Given the description of an element on the screen output the (x, y) to click on. 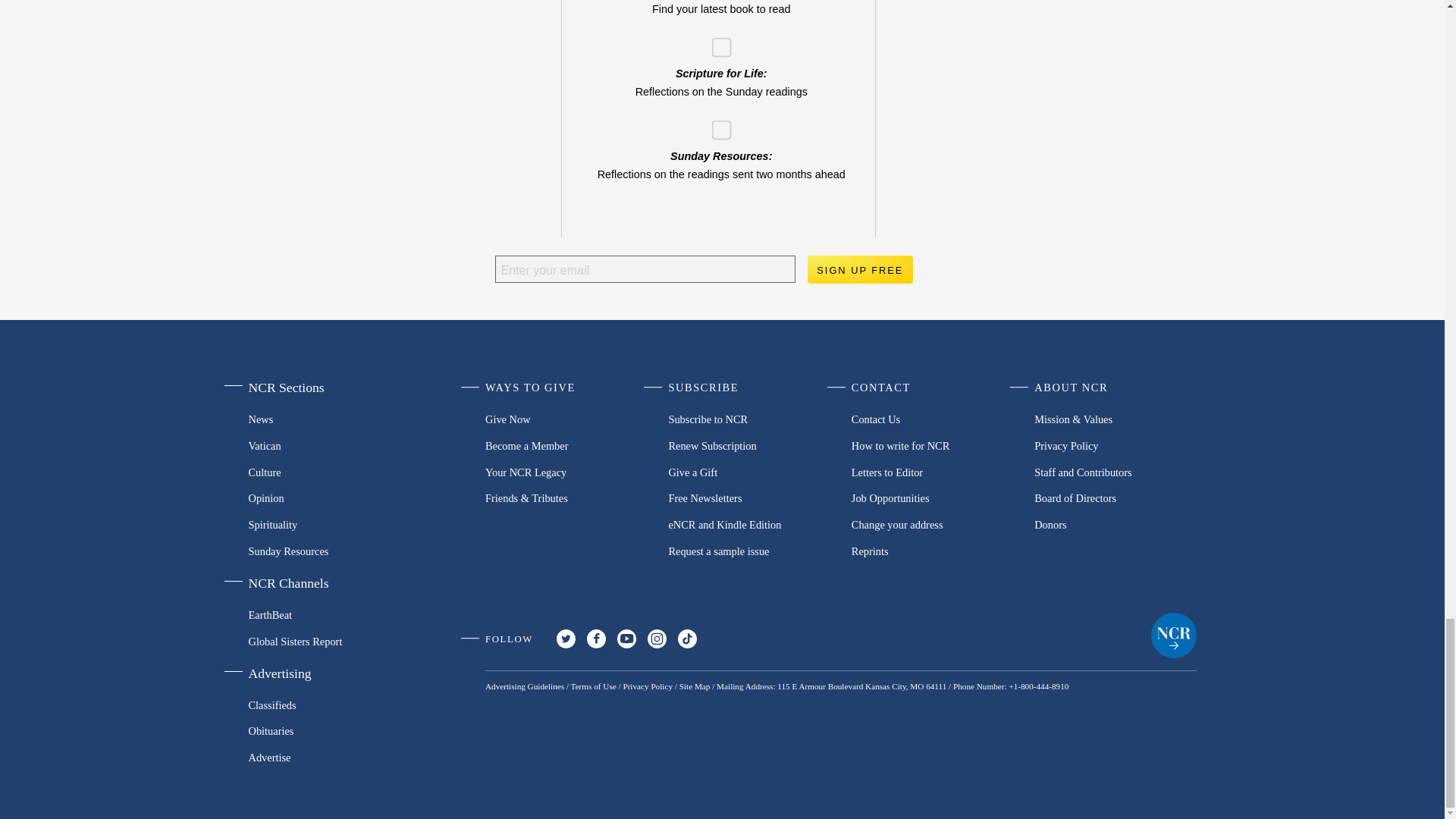
Request a sample issue of NCR (748, 550)
Request a reprint of NCR content (932, 550)
dfa4c56aff (715, 125)
How to write for NCR (932, 446)
Change your address (932, 524)
Donors (1114, 524)
c25324053e (715, 42)
Advertise with NCR (324, 757)
Sign up free (859, 269)
